Given the description of an element on the screen output the (x, y) to click on. 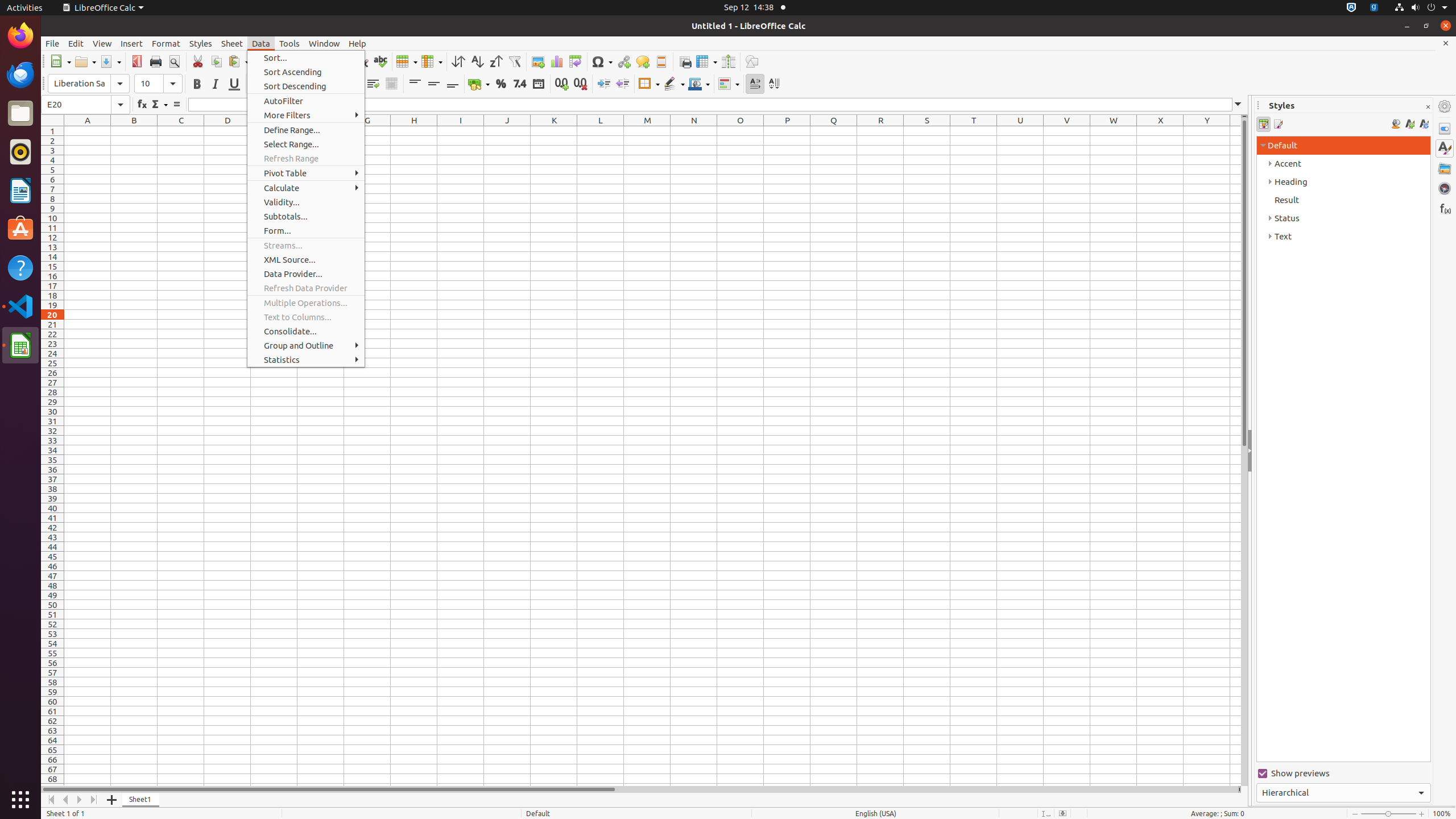
T1 Element type: table-cell (973, 130)
Multiple Operations... Element type: menu-item (305, 302)
P1 Element type: table-cell (786, 130)
Sort Descending Element type: menu-item (305, 86)
K1 Element type: table-cell (553, 130)
